Given the description of an element on the screen output the (x, y) to click on. 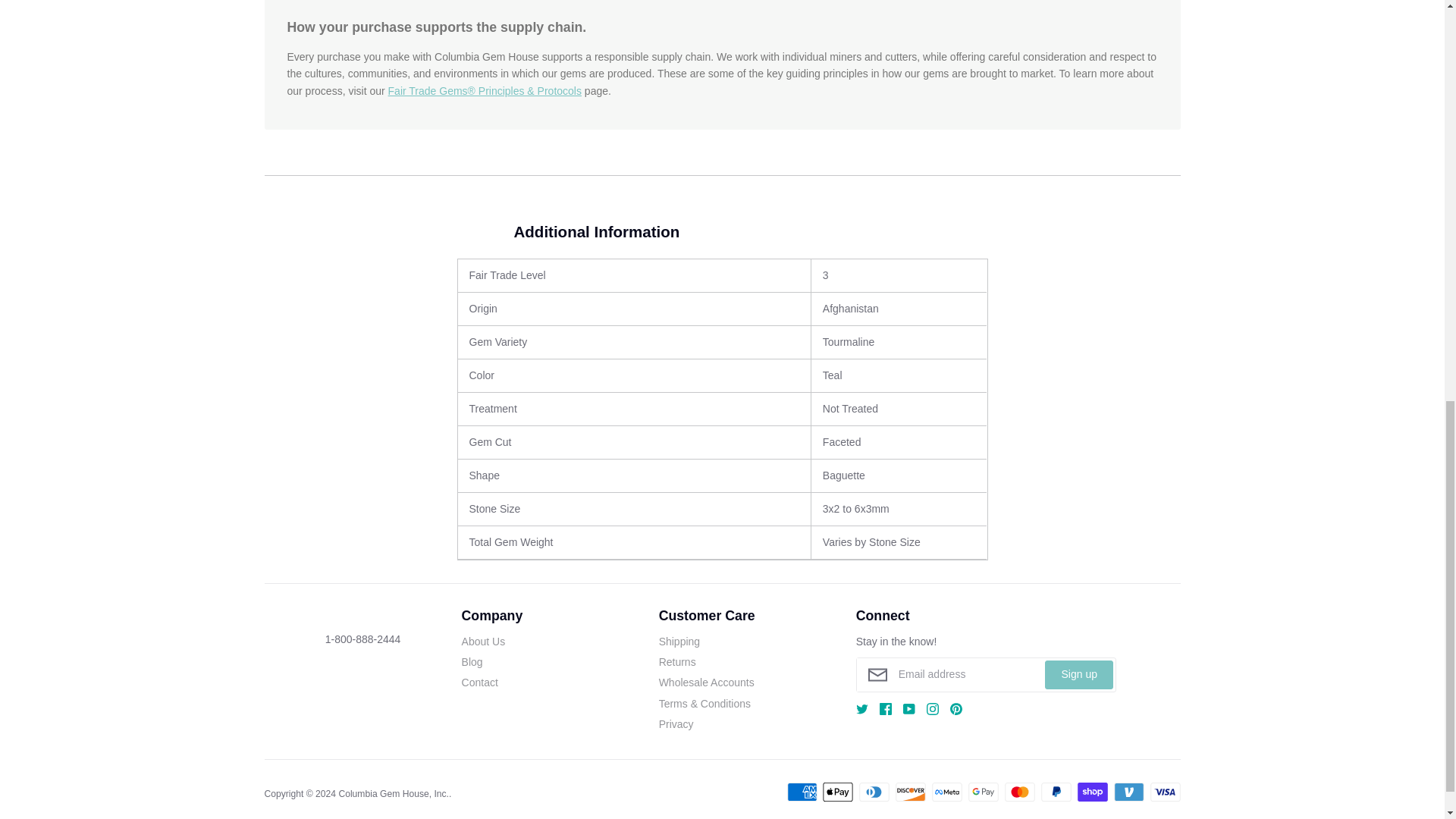
Discover (910, 791)
Meta Pay (946, 791)
American Express (801, 791)
Google Pay (983, 791)
Diners Club (874, 791)
Apple Pay (837, 791)
